Given the description of an element on the screen output the (x, y) to click on. 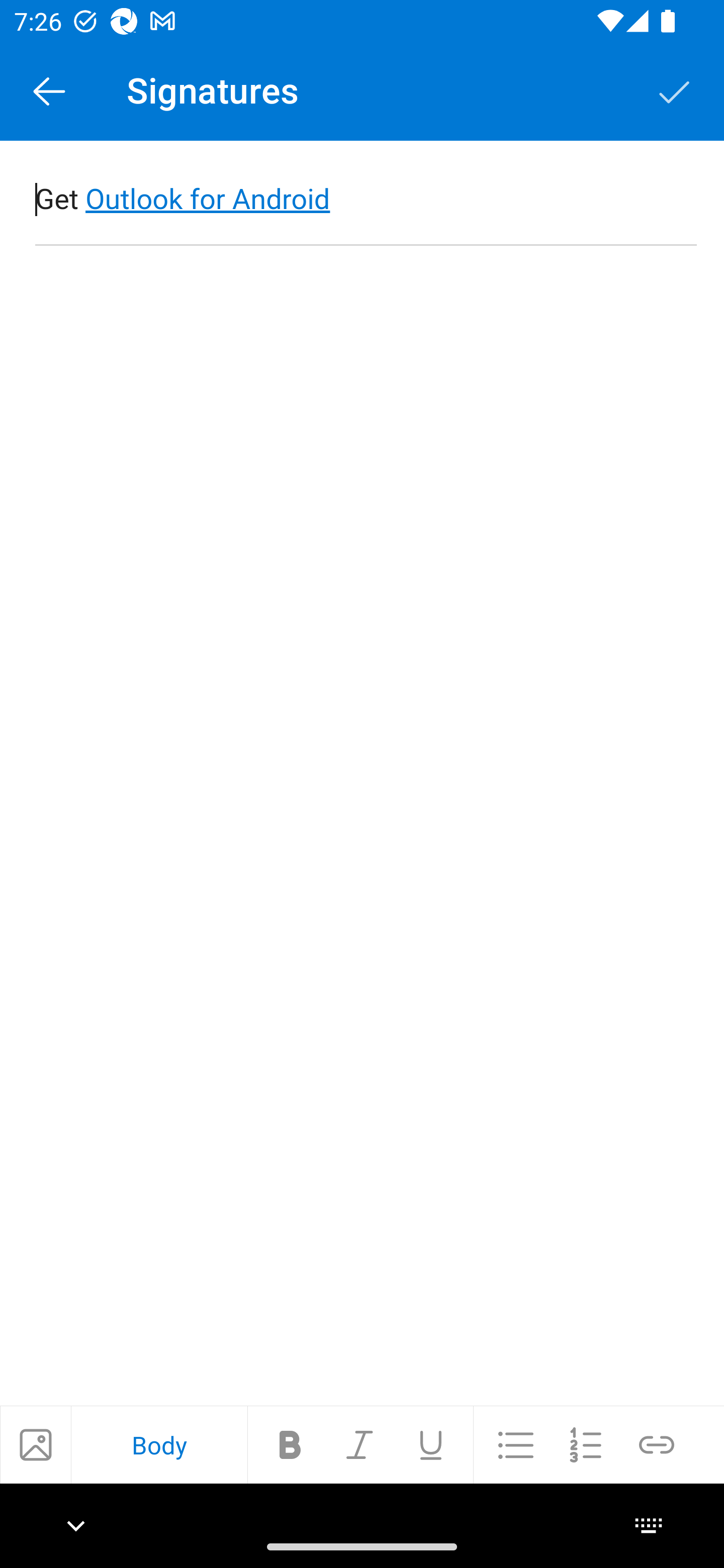
Back (49, 90)
Save (674, 90)
Font style button body Body (159, 1444)
Choose from photo library (35, 1444)
Bold (290, 1444)
Italics (360, 1444)
Underline (430, 1444)
Bulleted list (515, 1444)
Numbered list (586, 1444)
Add link (656, 1444)
